Given the description of an element on the screen output the (x, y) to click on. 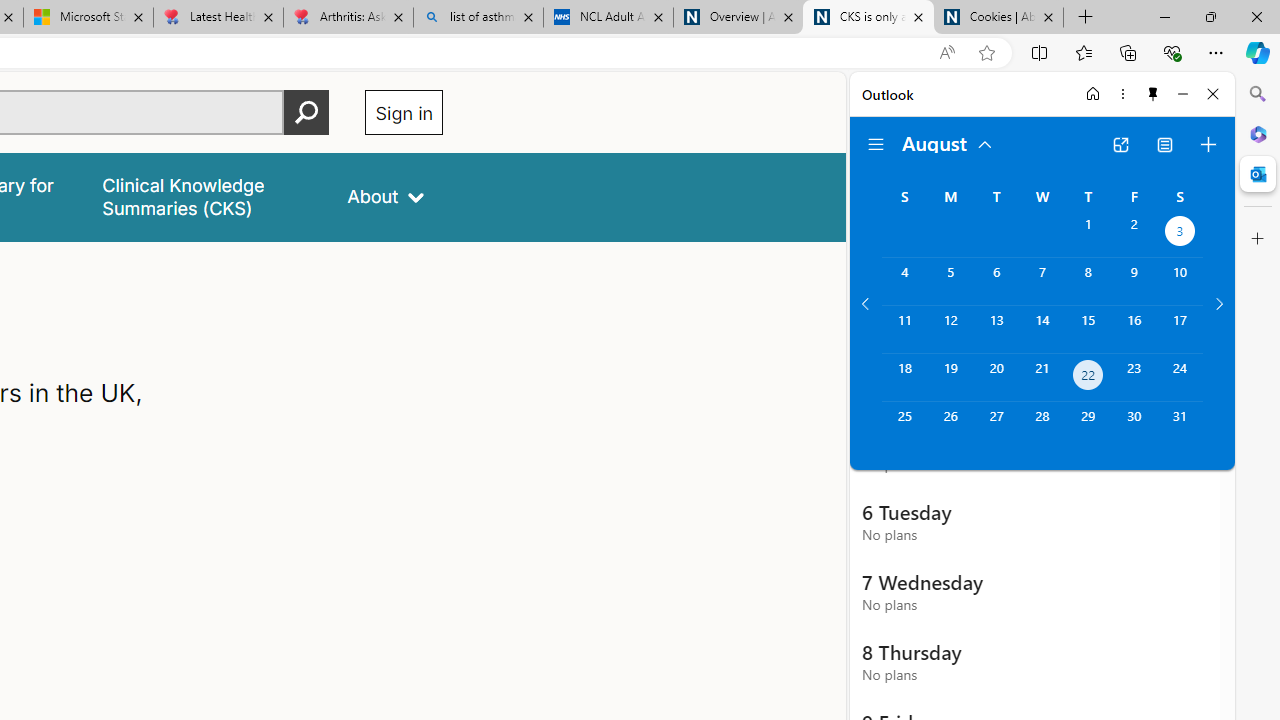
August (948, 141)
Sunday, August 11, 2024.  (904, 329)
About (386, 196)
Sunday, August 25, 2024.  (904, 425)
Cookies | About | NICE (998, 17)
Thursday, August 29, 2024.  (1088, 425)
Tuesday, August 13, 2024.  (996, 329)
Thursday, August 8, 2024.  (1088, 281)
Sunday, August 4, 2024.  (904, 281)
